Given the description of an element on the screen output the (x, y) to click on. 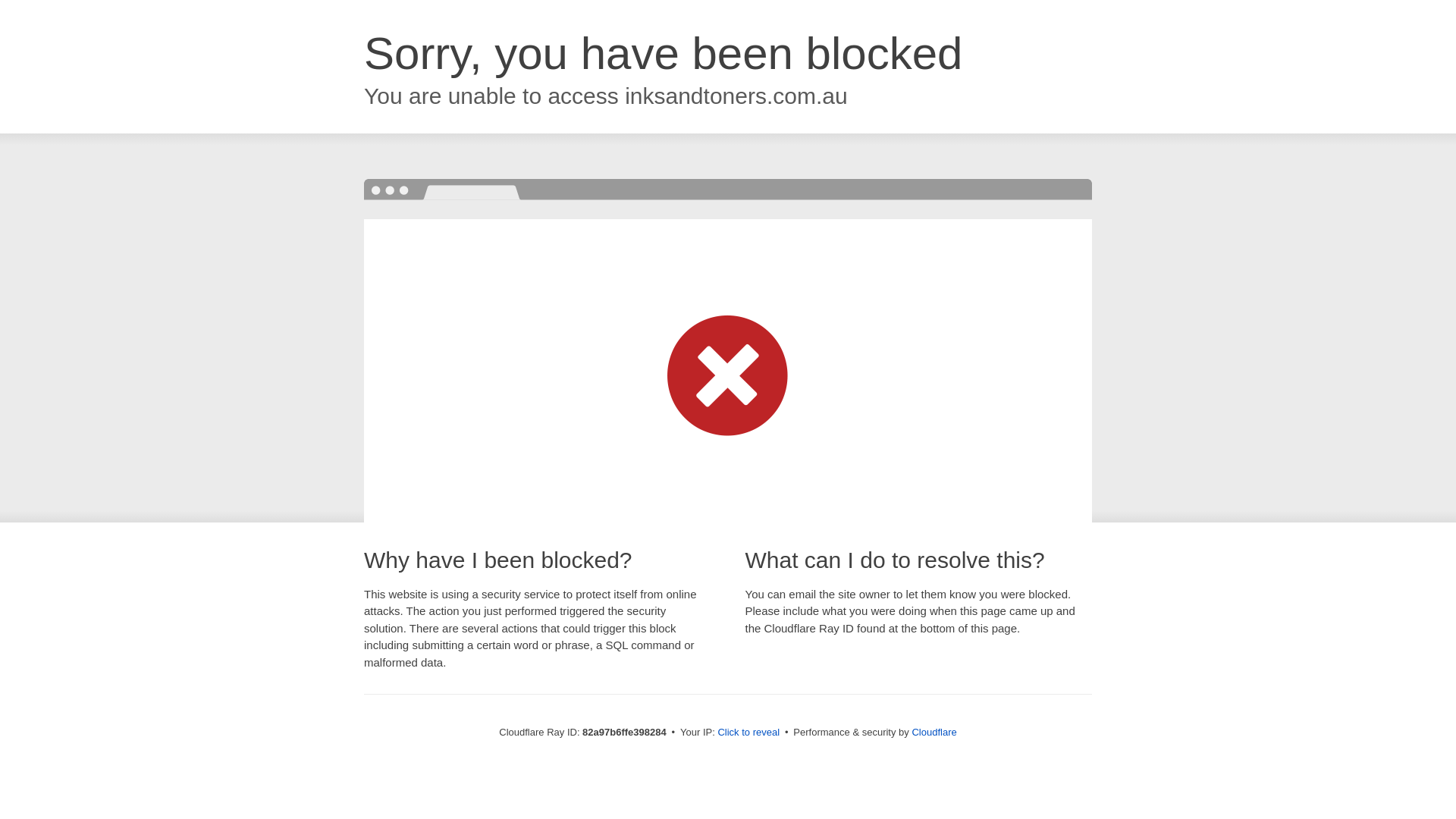
Click to reveal Element type: text (748, 732)
Cloudflare Element type: text (933, 731)
